Given the description of an element on the screen output the (x, y) to click on. 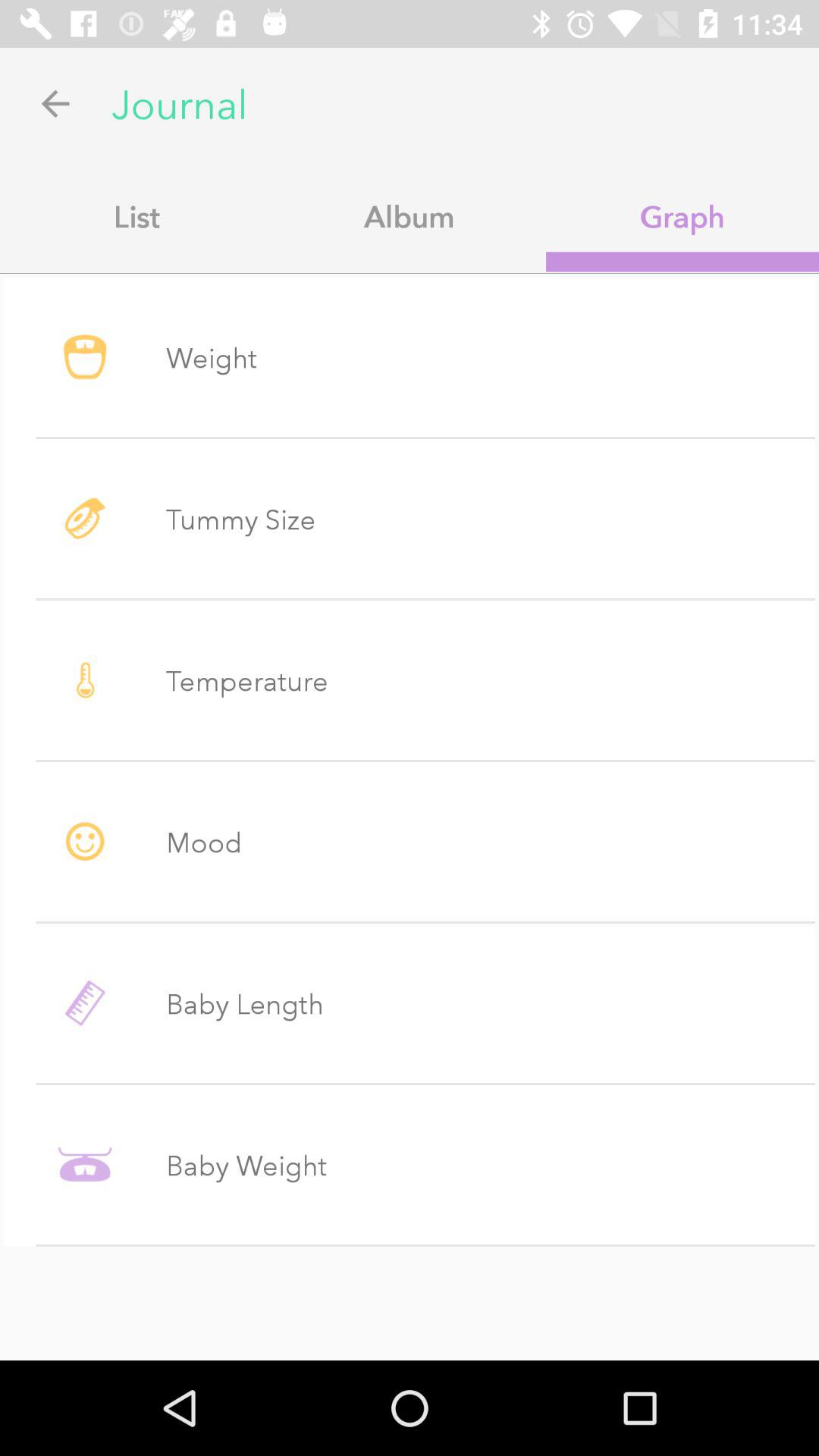
swipe until album app (409, 216)
